Given the description of an element on the screen output the (x, y) to click on. 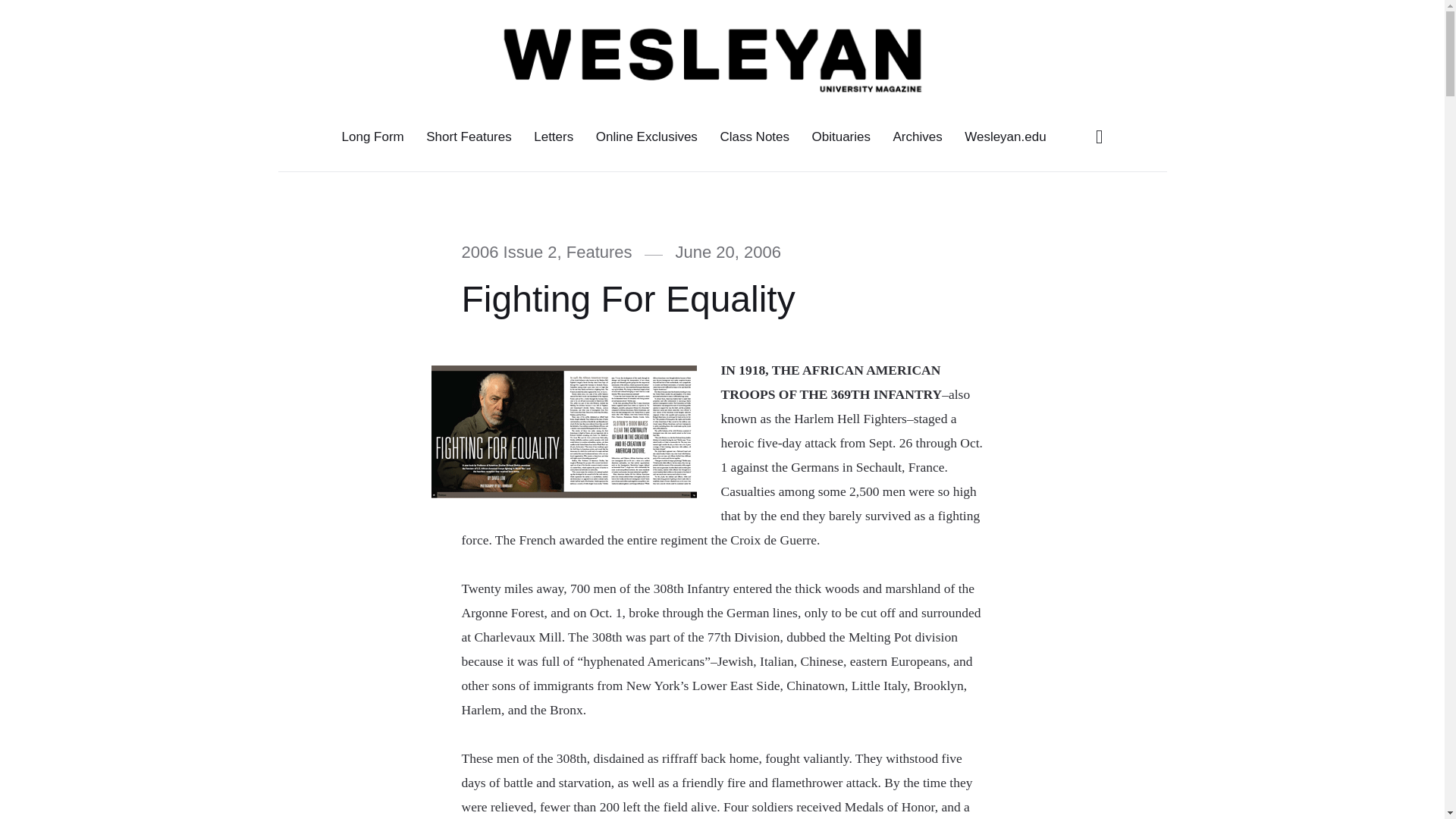
Features (598, 251)
WESLEYAN UNIVERSITY MAGAZINE (382, 58)
2006 Issue 2 (508, 251)
Obituaries (841, 137)
Class Notes (754, 137)
Wesleyan.edu (1005, 137)
Long Form (372, 137)
Archives (917, 137)
Online Exclusives (646, 137)
Short Features (468, 137)
